Given the description of an element on the screen output the (x, y) to click on. 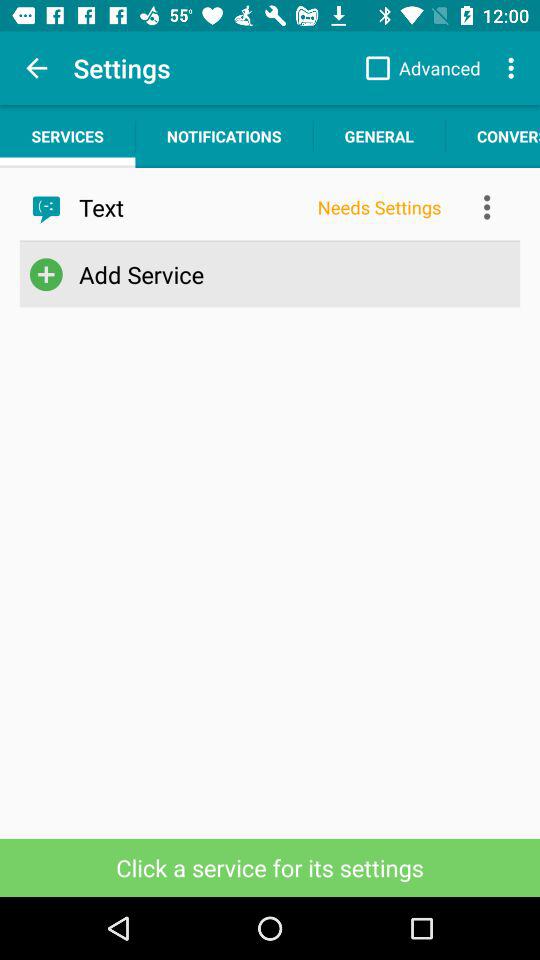
press the text item (191, 207)
